Given the description of an element on the screen output the (x, y) to click on. 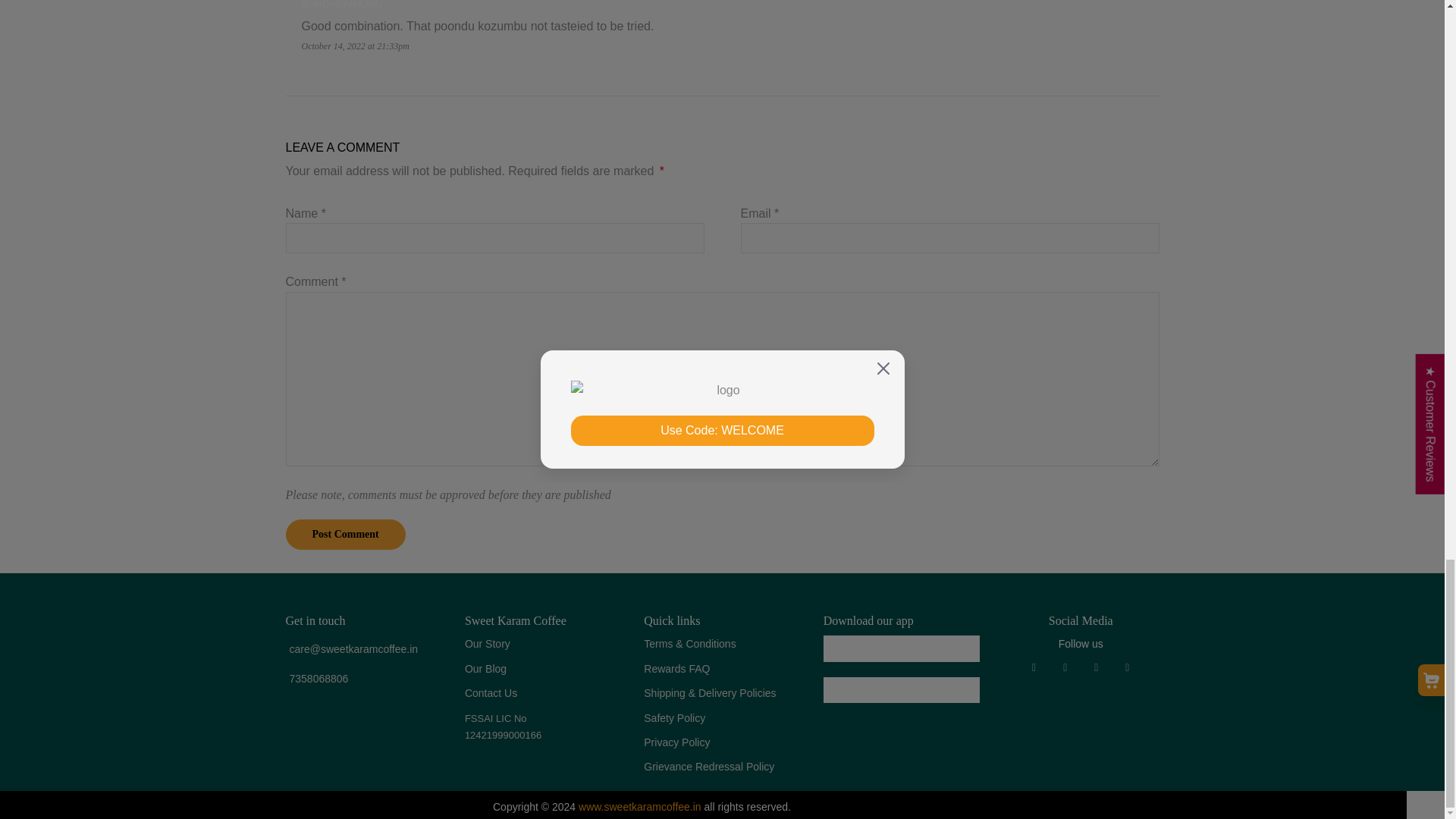
Post Comment (344, 534)
